Given the description of an element on the screen output the (x, y) to click on. 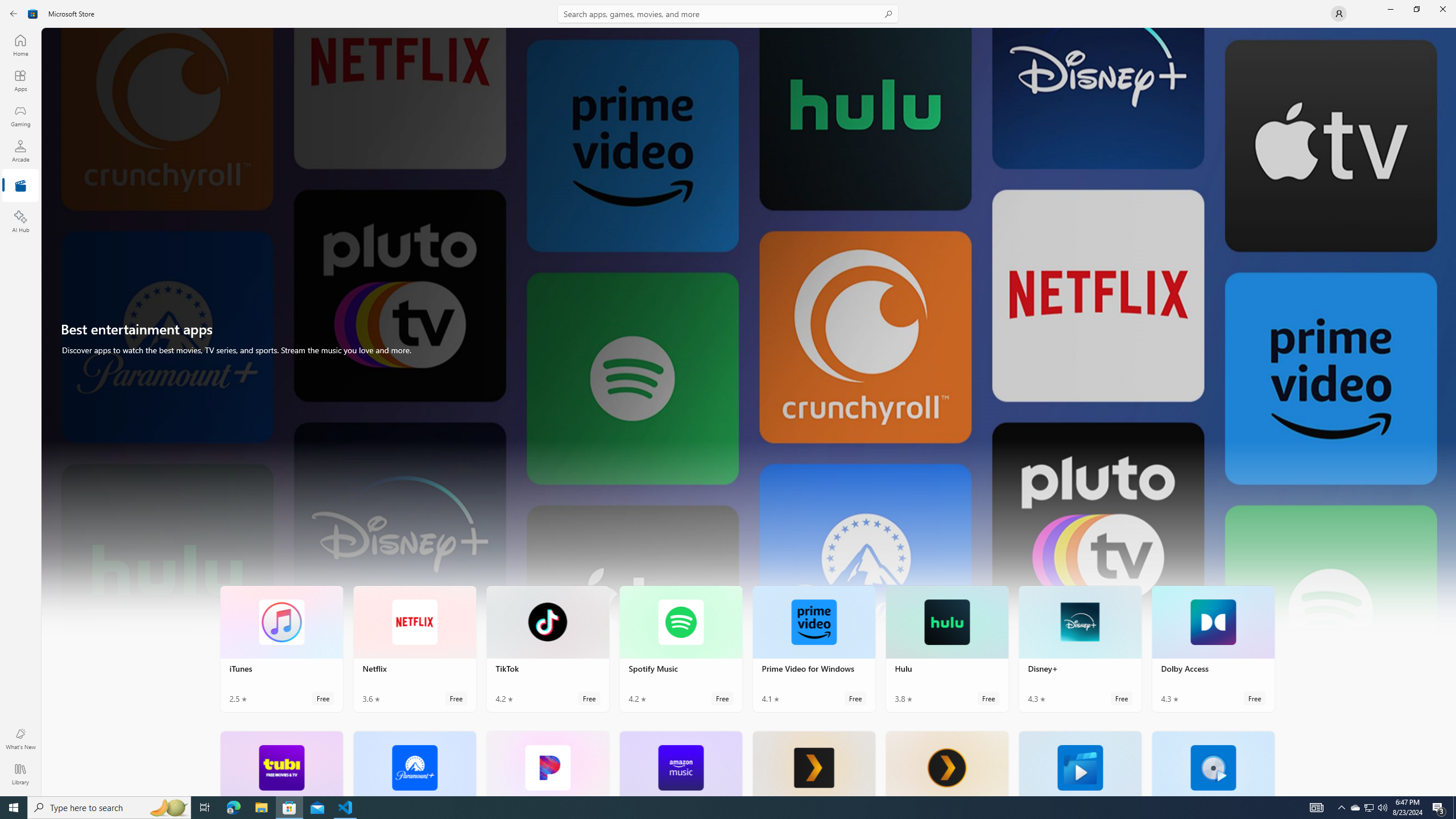
Paramount+. Average rating of 4.1 out of five stars. Free   (414, 763)
What's New (20, 738)
Class: Image (32, 13)
Disney+. Average rating of 4.3 out of five stars. Free   (1079, 648)
